Given the description of an element on the screen output the (x, y) to click on. 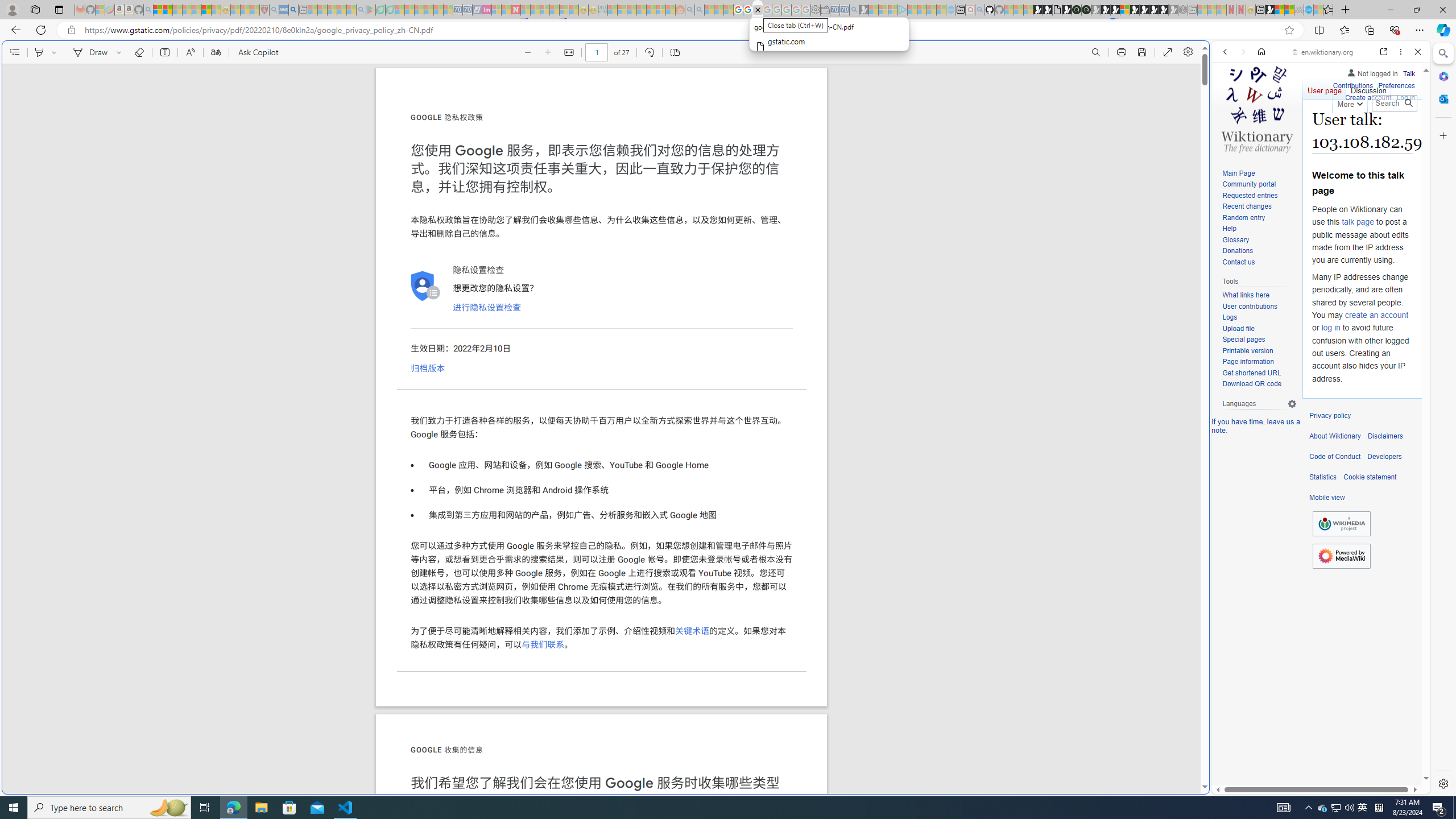
DITOGAMES AG Imprint - Sleeping (602, 9)
Add text (164, 52)
Requested entries (1249, 194)
Sign in to your account (1124, 9)
New tab (1259, 9)
NCL Adult Asthma Inhaler Choice Guideline - Sleeping (283, 9)
Search Filter, WEB (1230, 129)
Developers (1384, 456)
